Given the description of an element on the screen output the (x, y) to click on. 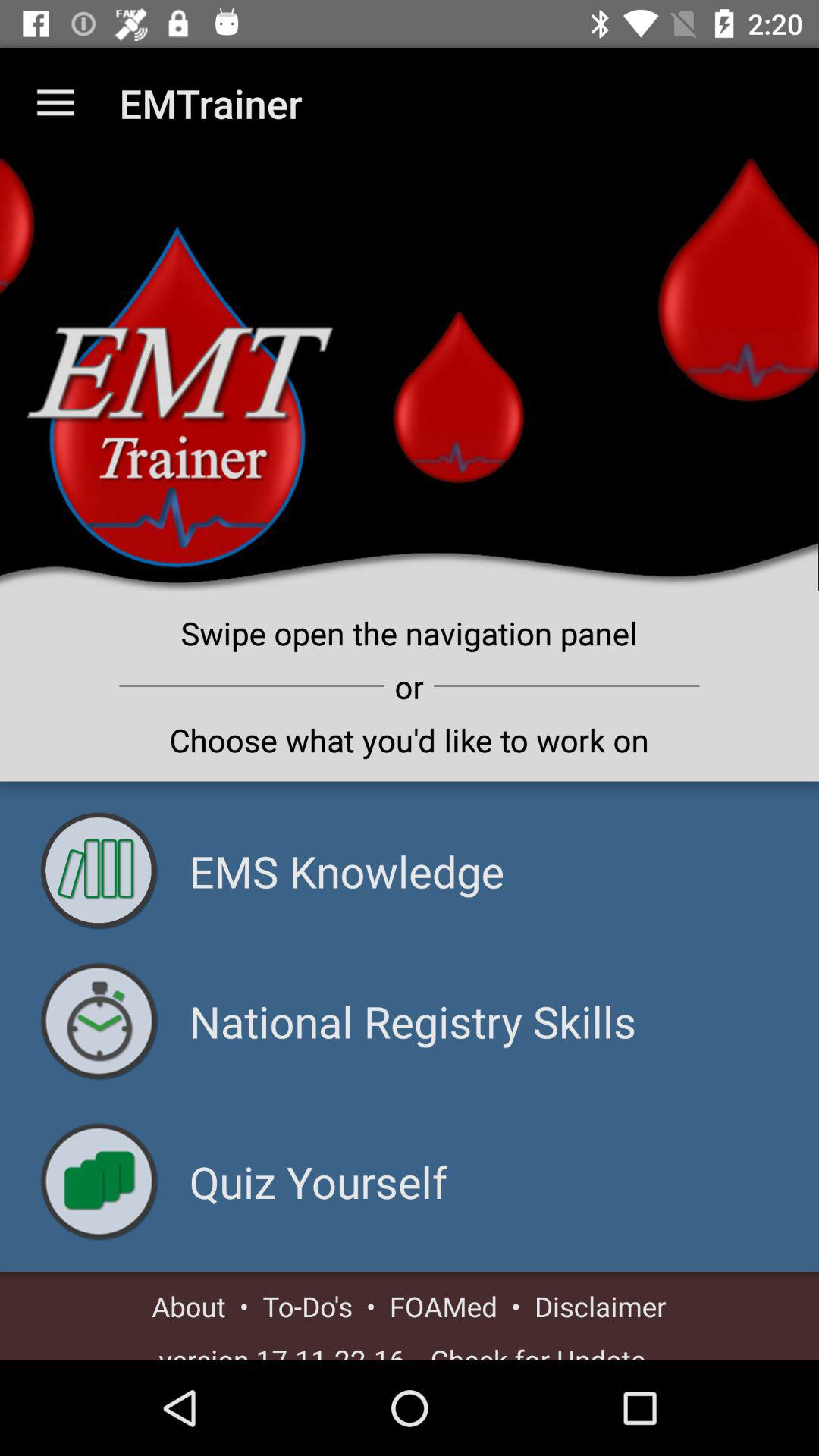
scroll until the disclaimer item (600, 1306)
